Given the description of an element on the screen output the (x, y) to click on. 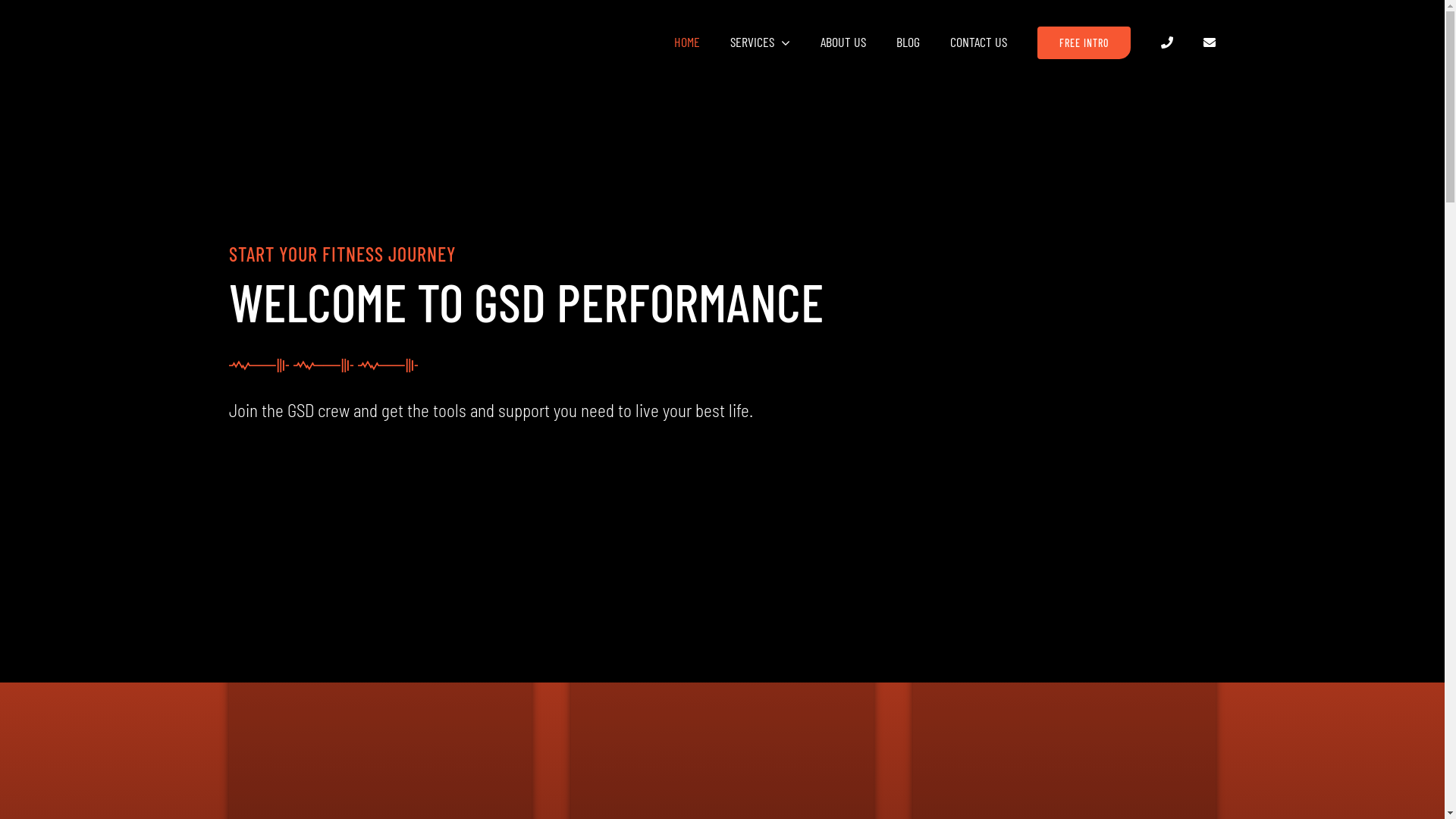
HOME Element type: text (686, 41)
BLOG Element type: text (907, 41)
ABOUT US Element type: text (843, 41)
CONTACT US Element type: text (978, 41)
FREE INTRO Element type: text (1083, 42)
SERVICES Element type: text (760, 41)
